Given the description of an element on the screen output the (x, y) to click on. 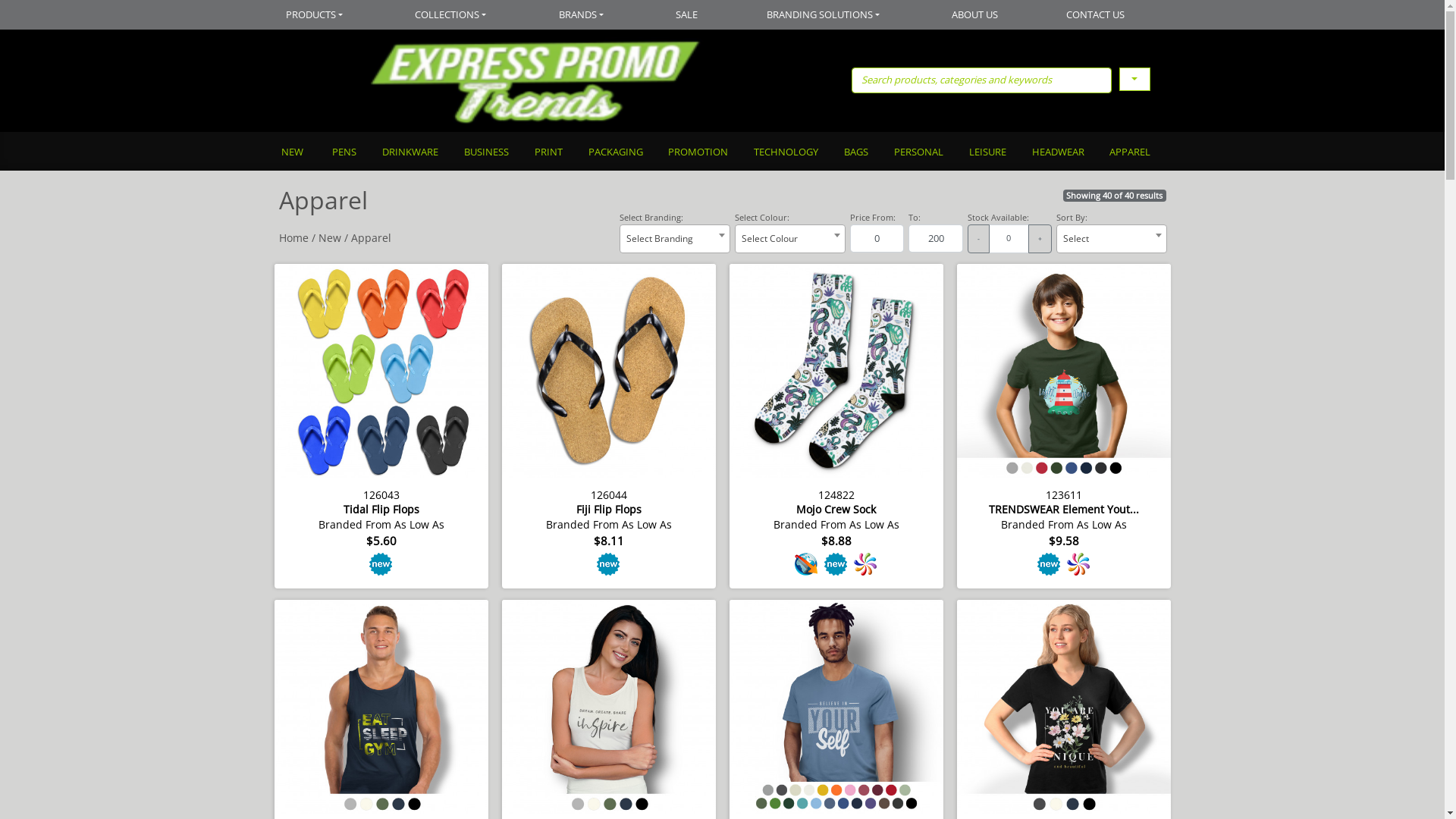
New Item. Element type: hover (835, 563)
New Element type: text (329, 237)
PENS Element type: text (344, 152)
Full colour branding available. Element type: hover (865, 563)
Indent Express: 25 working day lead time. Element type: hover (806, 563)
BRANDS Element type: text (582, 14)
CONTACT US Element type: text (1095, 14)
Apparel Element type: text (370, 237)
PRODUCTS Element type: text (330, 14)
New Item. Element type: hover (1048, 563)
SALE Element type: text (687, 14)
Full colour branding available. Element type: hover (1077, 563)
New Item. Element type: hover (380, 563)
BRANDING SOLUTIONS Element type: text (824, 14)
PROMOTION Element type: text (697, 152)
BUSINESS Element type: text (485, 152)
BAGS Element type: text (855, 152)
DRINKWARE Element type: text (409, 152)
- Element type: text (978, 238)
New Item. Element type: hover (608, 563)
  Element type: text (1134, 79)
126044
Fiji Flip Flops
Branded From As Low As
$8.11 Element type: text (608, 424)
HEADWEAR Element type: text (1057, 152)
ABOUT US Element type: text (975, 14)
124822
Mojo Crew Sock
Branded From As Low As
$8.88 Element type: text (836, 424)
TECHNOLOGY Element type: text (785, 152)
NEW Element type: text (299, 152)
Home Element type: text (293, 237)
LEISURE Element type: text (986, 152)
PACKAGING Element type: text (614, 152)
+ Element type: text (1039, 238)
PERSONAL Element type: text (917, 152)
COLLECTIONS Element type: text (452, 14)
126043
Tidal Flip Flops
Branded From As Low As
$5.60 Element type: text (381, 424)
APPAREL Element type: text (1129, 152)
PRINT Element type: text (547, 152)
